Given the description of an element on the screen output the (x, y) to click on. 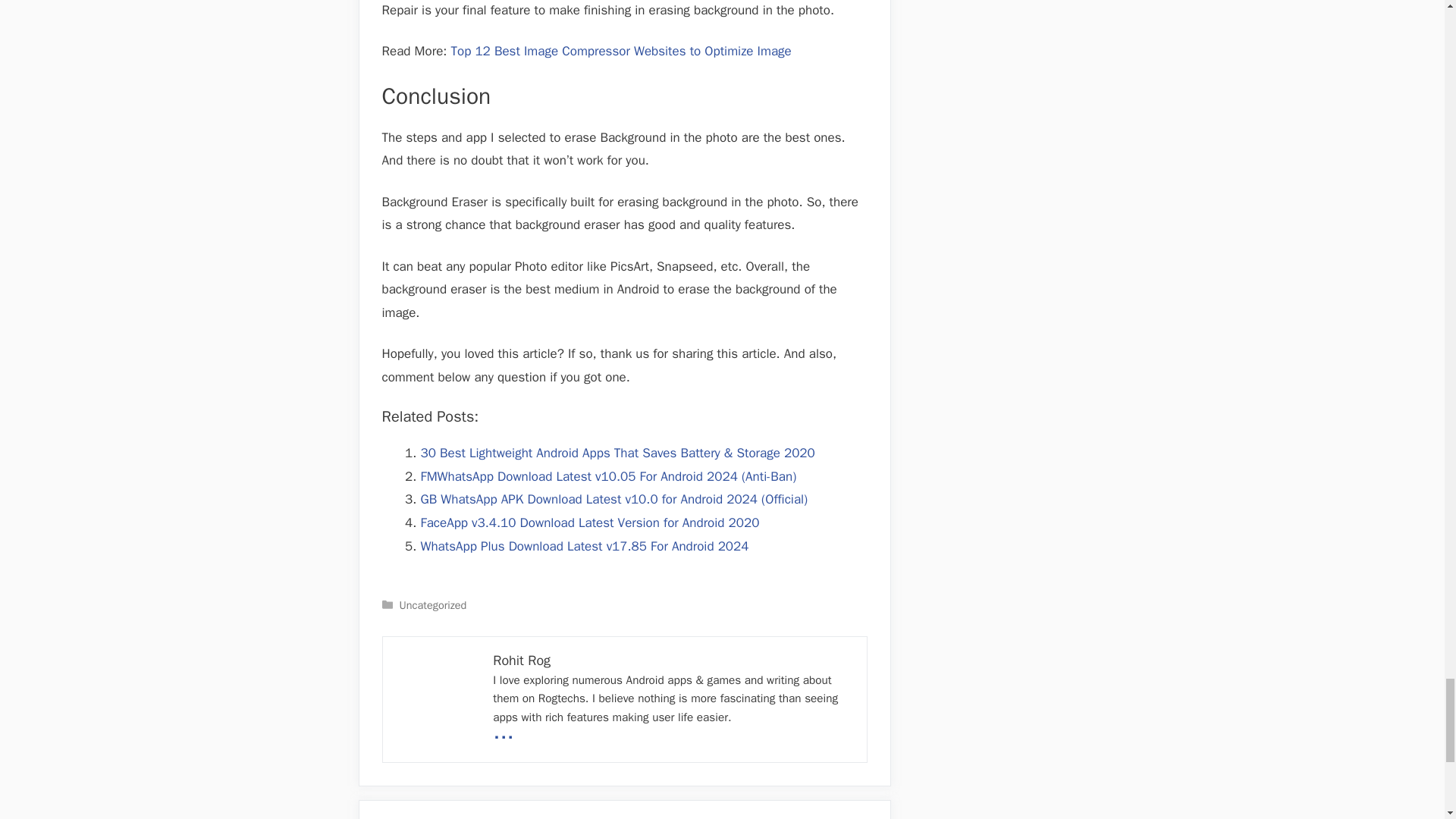
FaceApp v3.4.10 Download Latest Version for Android 2020 (589, 522)
Top 12 Best Image Compressor Websites to Optimize Image (619, 50)
WhatsApp Plus Download Latest v17.85 For Android 2024 (584, 546)
WhatsApp Plus Download Latest v17.85 For Android 2024 (584, 546)
FaceApp v3.4.10 Download Latest Version for Android 2020 (589, 522)
Uncategorized (432, 604)
